Given the description of an element on the screen output the (x, y) to click on. 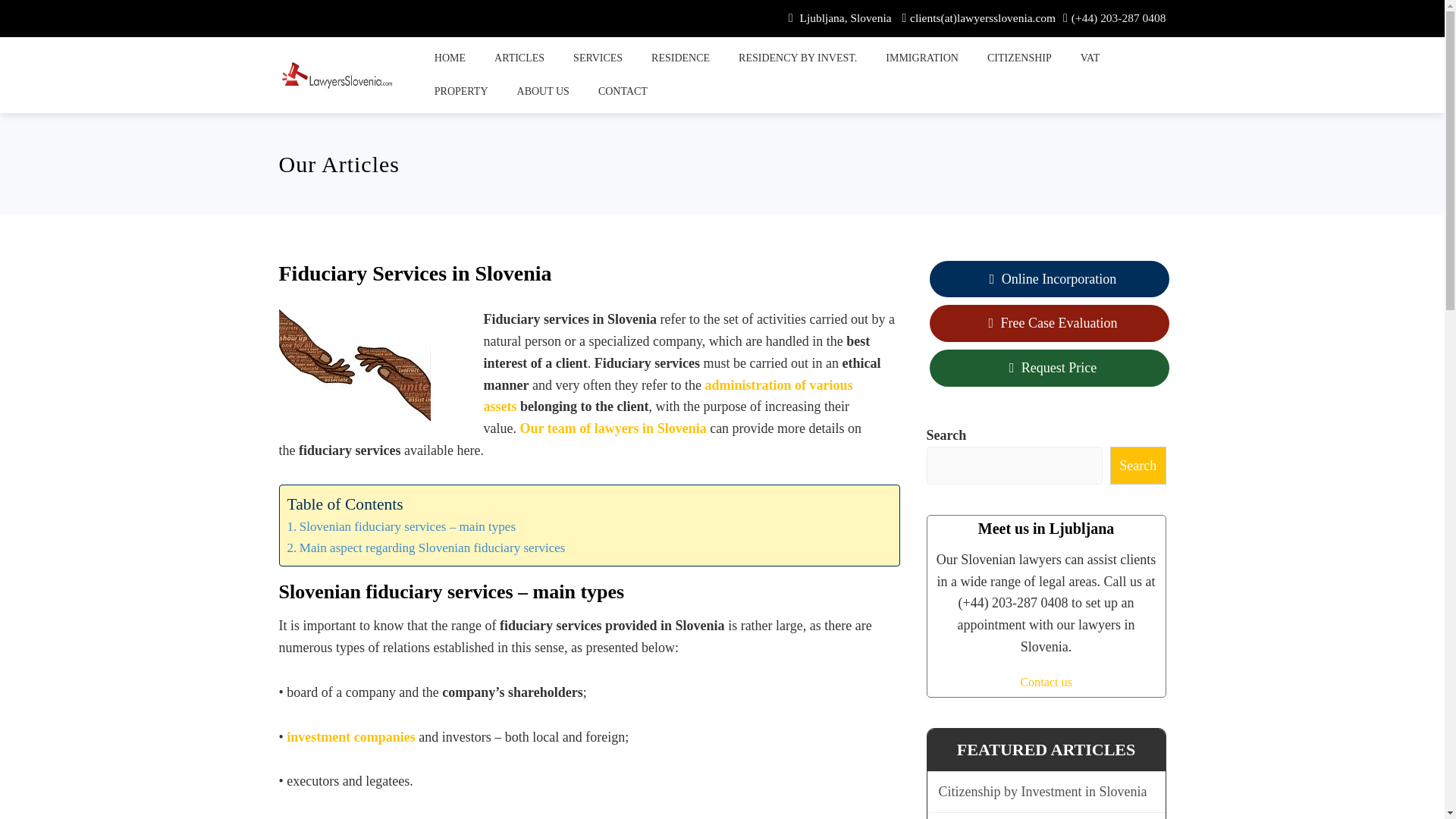
RESIDENCY BY INVEST. (797, 58)
ABOUT US (542, 91)
IMMIGRATION (922, 58)
Main aspect regarding Slovenian fiduciary services   (429, 547)
CONTACT (622, 91)
Our team of lawyers in Slovenia (612, 427)
administration of various assets (668, 395)
PROPERTY (461, 91)
SERVICES (597, 58)
HOME (449, 58)
RESIDENCE (680, 58)
investment companies (350, 736)
CITIZENSHIP (1019, 58)
VAT (1090, 58)
